Given the description of an element on the screen output the (x, y) to click on. 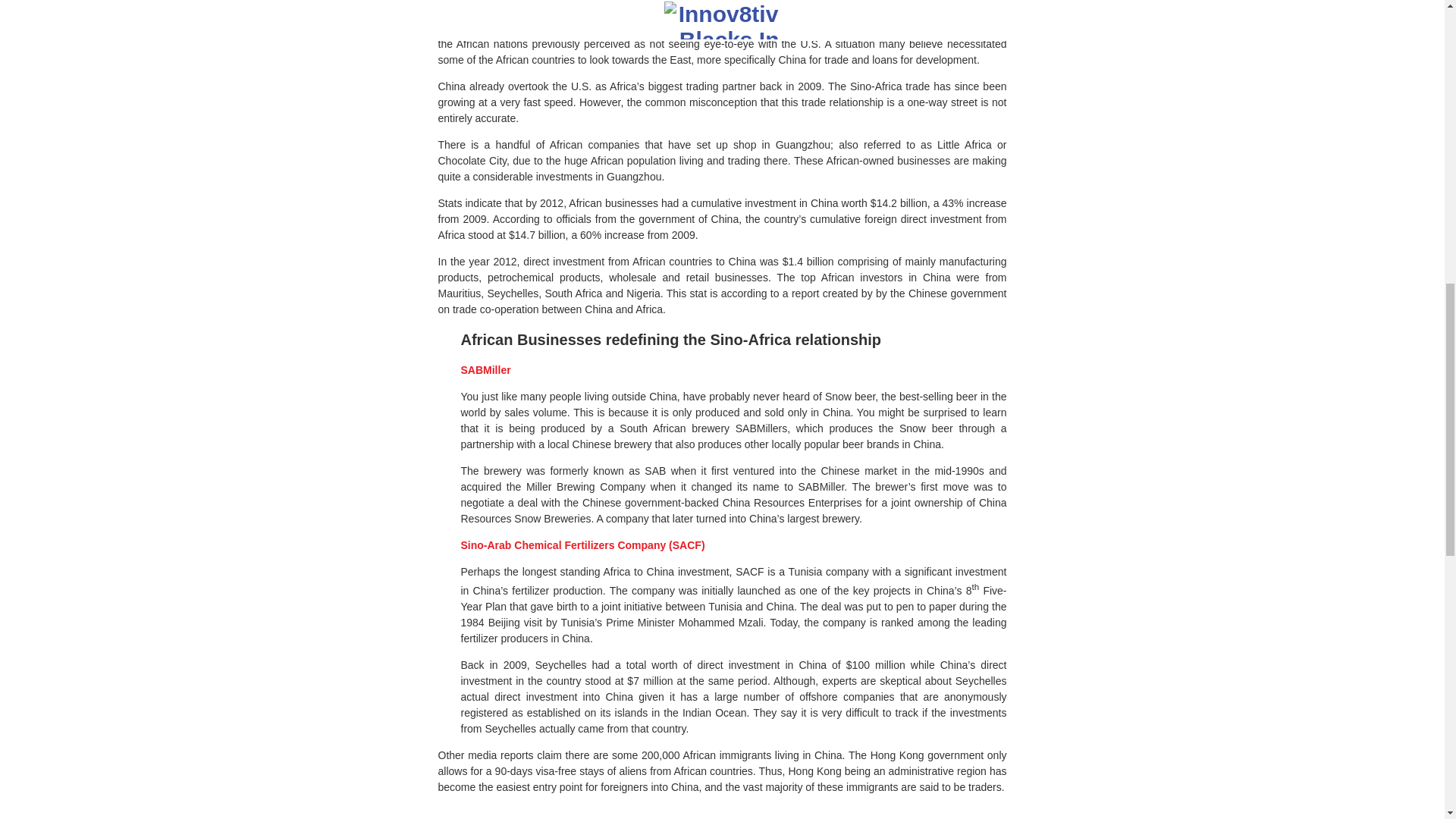
2015 Global Entrepreneurship (543, 28)
SABMiller (486, 369)
